Given the description of an element on the screen output the (x, y) to click on. 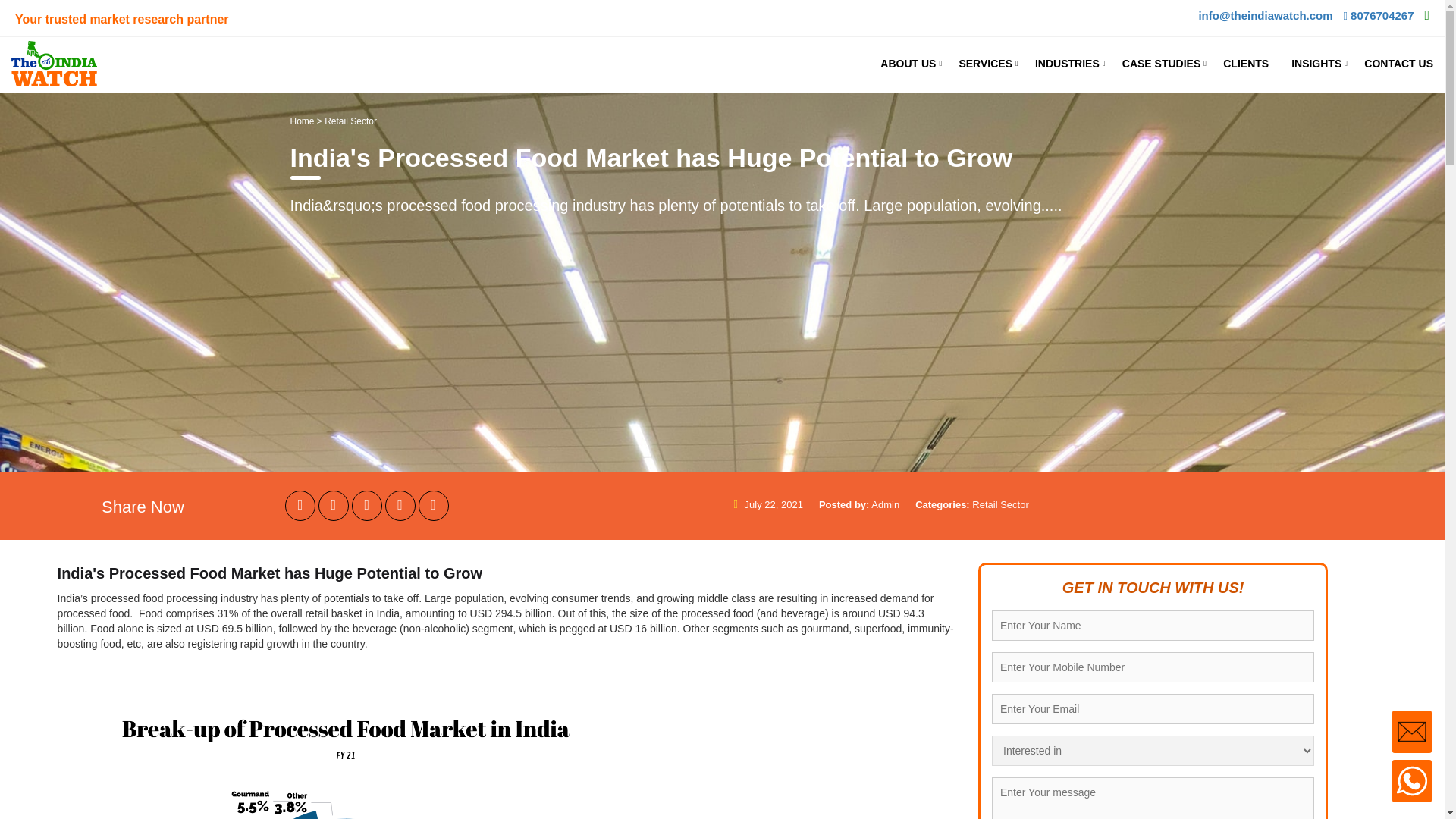
SERVICES (985, 63)
Home (301, 121)
INDUSTRIES (1066, 63)
CONTACT US (1398, 63)
8076704267 (1377, 15)
CASE STUDIES (1160, 63)
CLIENTS (1245, 63)
INSIGHTS (1315, 63)
ABOUT US (908, 63)
